Given the description of an element on the screen output the (x, y) to click on. 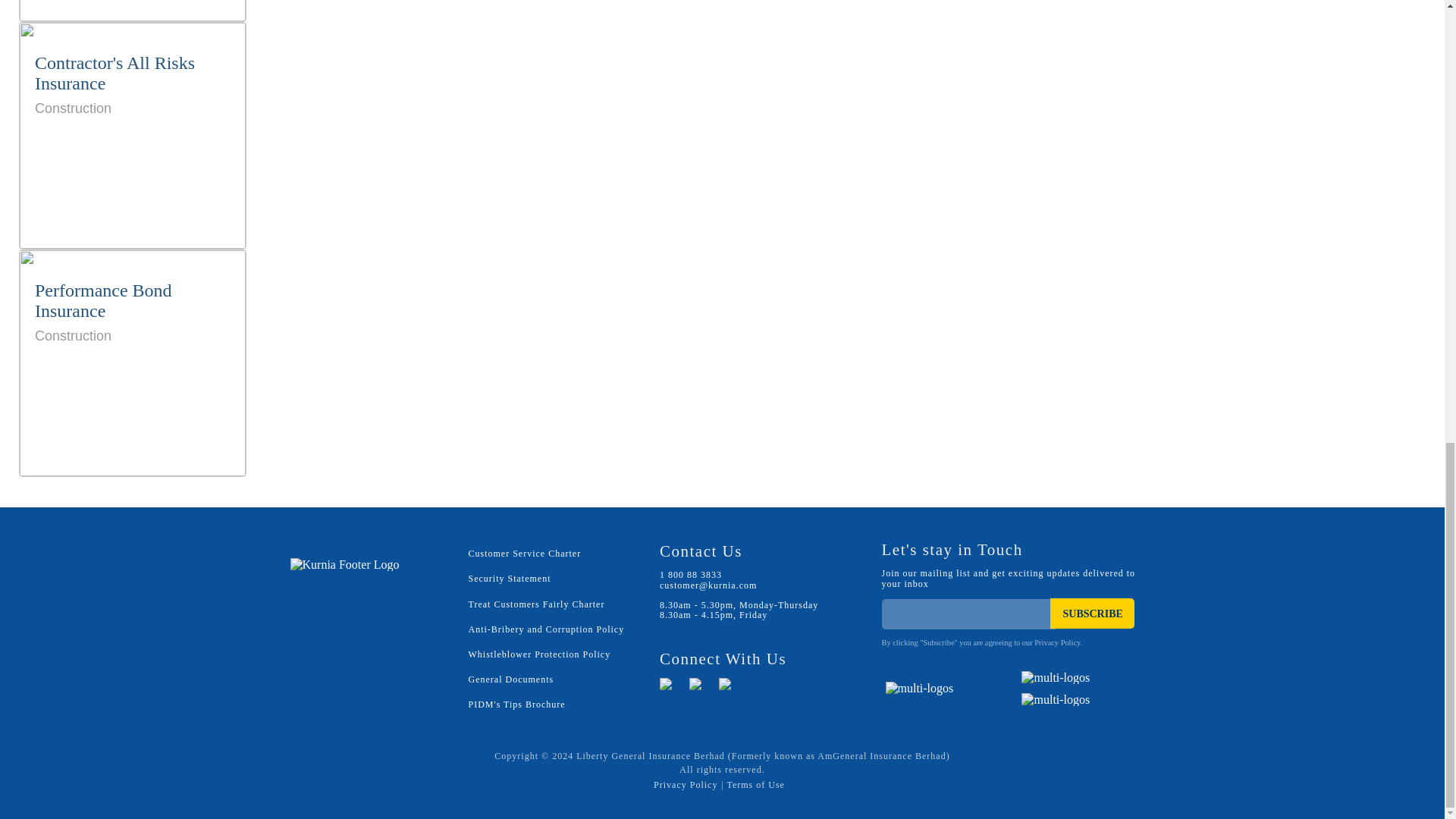
Subscribe (1091, 613)
Customer Service Charter (524, 552)
Anti-Bribery and Corruption Policy (546, 629)
General Documents (511, 679)
Privacy Policy. (1057, 642)
PIDM's Tips Brochure (517, 704)
Security Statement (509, 578)
Subscribe (1091, 613)
Whistleblower Protection Policy (539, 654)
Treat Customers Fairly Charter (536, 603)
Privacy Policy (133, 361)
Terms of Use (685, 784)
